Given the description of an element on the screen output the (x, y) to click on. 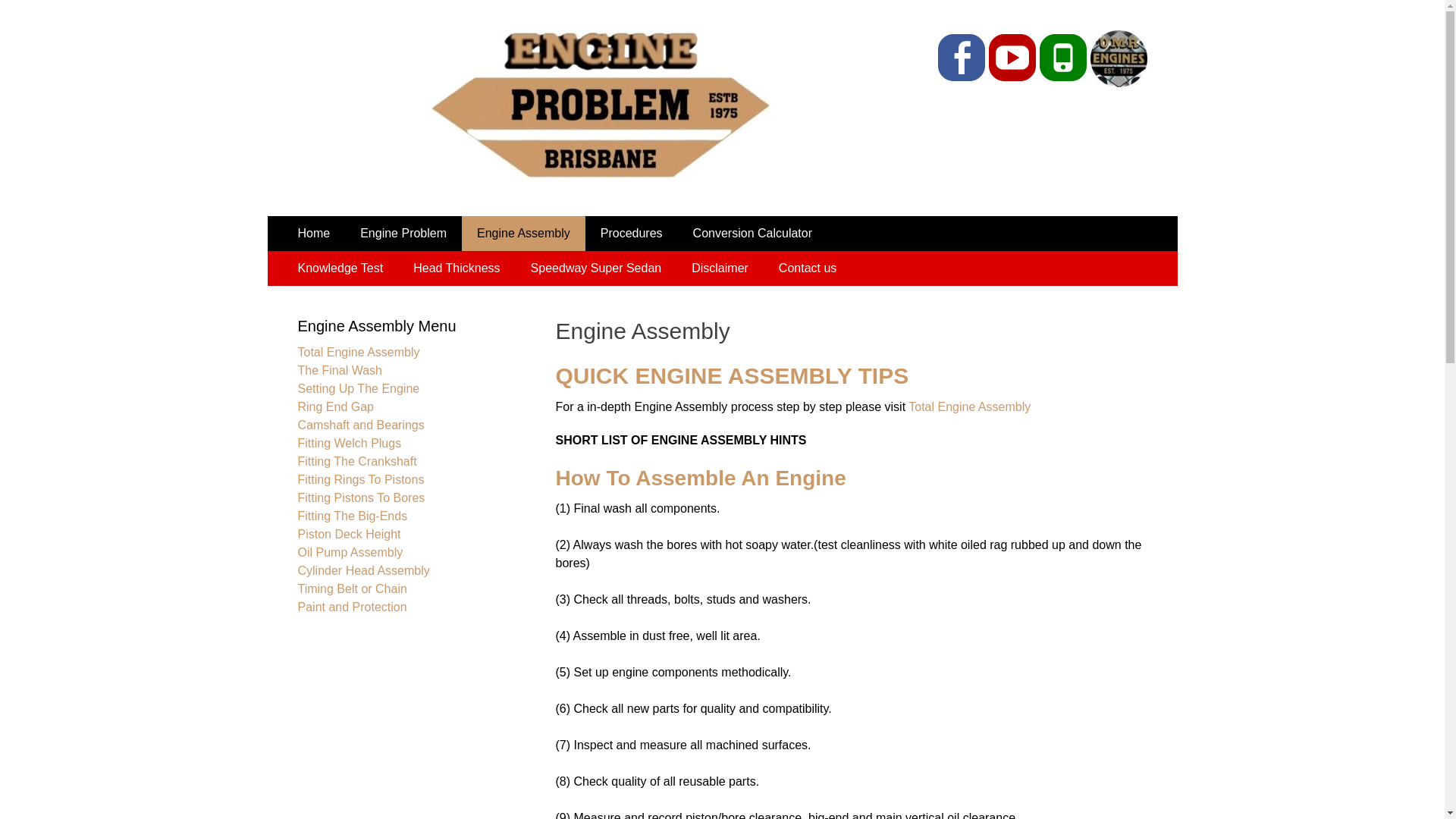
Engine Problem Element type: text (403, 233)
Engine Assembly Element type: text (523, 233)
Knowledge Test Element type: text (340, 268)
YouTube Element type: text (1011, 57)
Engine Problem Element type: text (528, 194)
Ring End Gap Element type: text (335, 406)
Piston Deck Height Element type: text (348, 533)
Total Engine Assembly Element type: text (969, 406)
Cylinder Head Assembly Element type: text (363, 570)
Camshaft and Bearings Element type: text (360, 424)
Fitting The Big-Ends Element type: text (352, 515)
Head Thickness Element type: text (456, 268)
Contact us Element type: text (807, 268)
Fitting The Crankshaft Element type: text (356, 461)
Disclaimer Element type: text (719, 268)
Phone Element type: text (1062, 57)
Oil Pump Assembly Element type: text (349, 552)
Home Element type: text (313, 233)
Fitting Welch Plugs Element type: text (349, 442)
Paint and Protection Element type: text (351, 606)
Conversion Calculator Element type: text (752, 233)
Fitting Pistons To Bores Element type: text (360, 497)
UMR Engines Element type: hover (1116, 82)
Total Engine Assembly Element type: text (358, 351)
Setting Up The Engine Element type: text (358, 388)
Speedway Super Sedan Element type: text (596, 268)
Facebook Element type: text (961, 57)
The Final Wash Element type: text (339, 370)
Procedures Element type: text (631, 233)
Fitting Rings To Pistons Element type: text (360, 479)
Timing Belt or Chain Element type: text (351, 588)
